Given the description of an element on the screen output the (x, y) to click on. 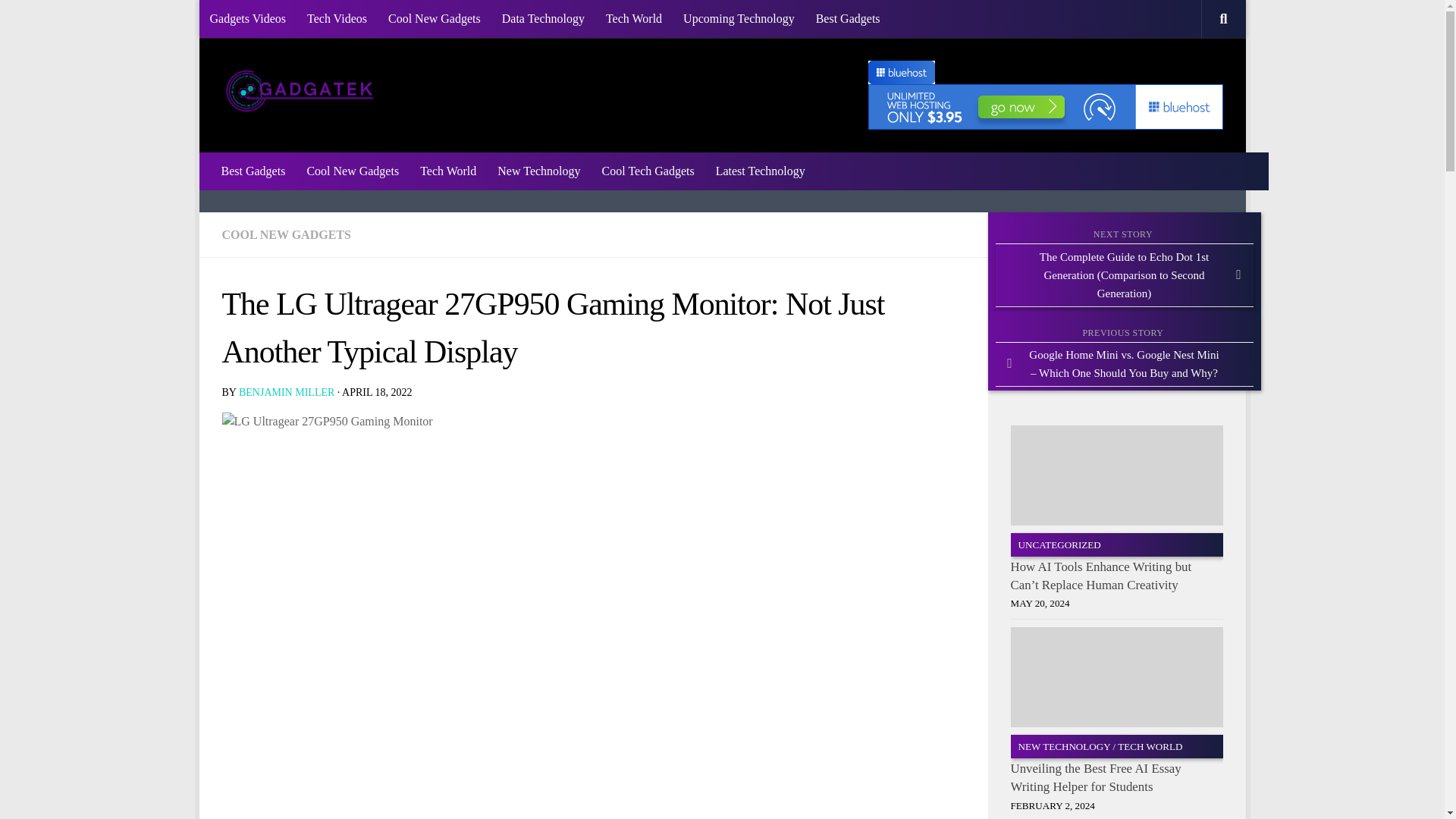
Data Technology (543, 18)
Skip to content (258, 20)
Gadgets Videos (247, 18)
BENJAMIN MILLER (286, 392)
Tech Videos (337, 18)
Tech World (447, 171)
Tech World (633, 18)
Cool New Gadgets (352, 171)
Upcoming Technology (738, 18)
Best Gadgets (848, 18)
